Given the description of an element on the screen output the (x, y) to click on. 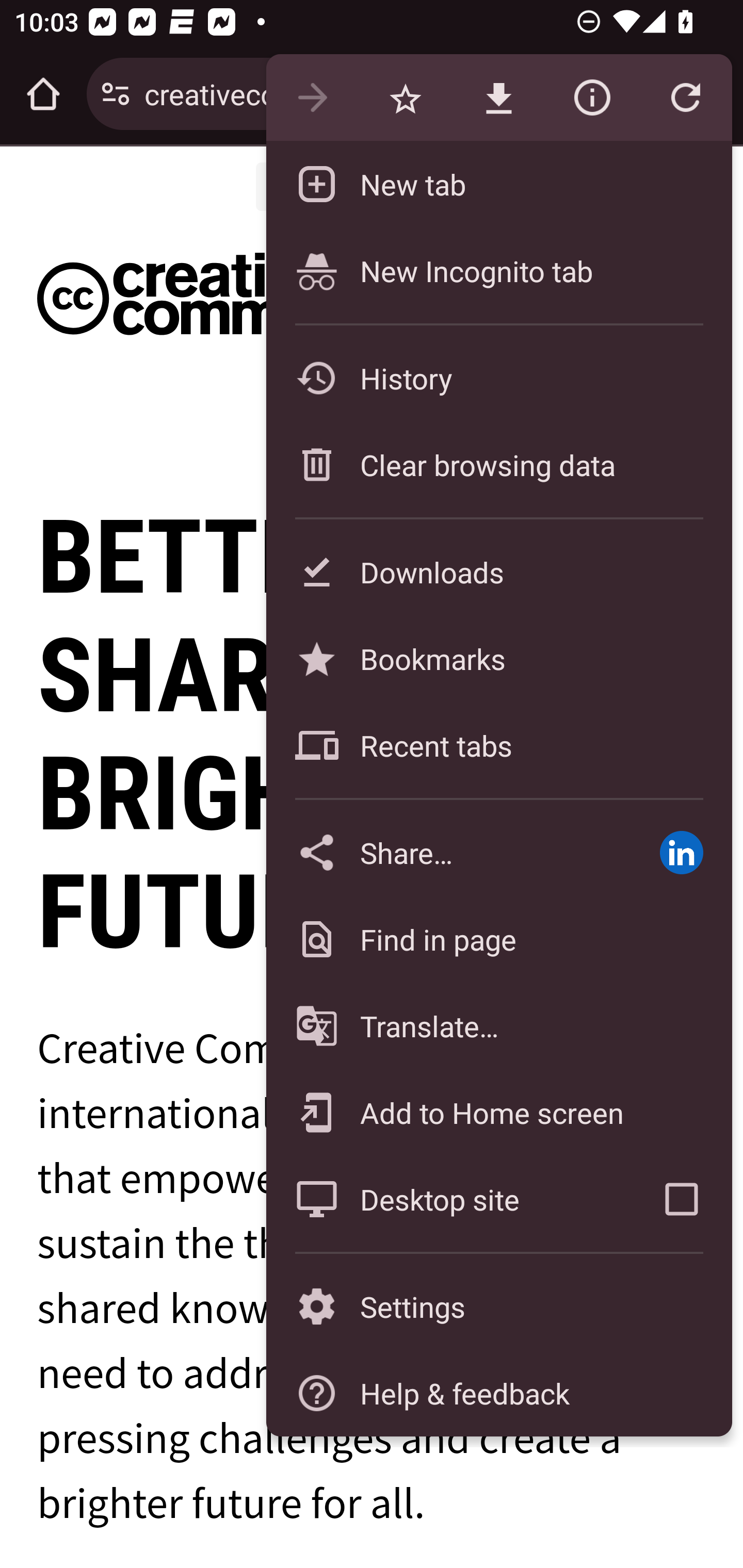
Forward (311, 97)
Bookmark (404, 97)
Download (498, 97)
Page info (591, 97)
Refresh (684, 97)
New tab (498, 184)
New Incognito tab (498, 270)
History (498, 377)
Clear browsing data (498, 464)
Downloads (498, 571)
Bookmarks (498, 658)
Recent tabs (498, 745)
Share… (447, 852)
Share via Share in a post (680, 852)
Find in page (498, 939)
Translate… (498, 1026)
Add to Home screen (498, 1112)
Desktop site Turn on Request desktop site (447, 1198)
Settings (498, 1306)
Help & feedback (498, 1393)
